Given the description of an element on the screen output the (x, y) to click on. 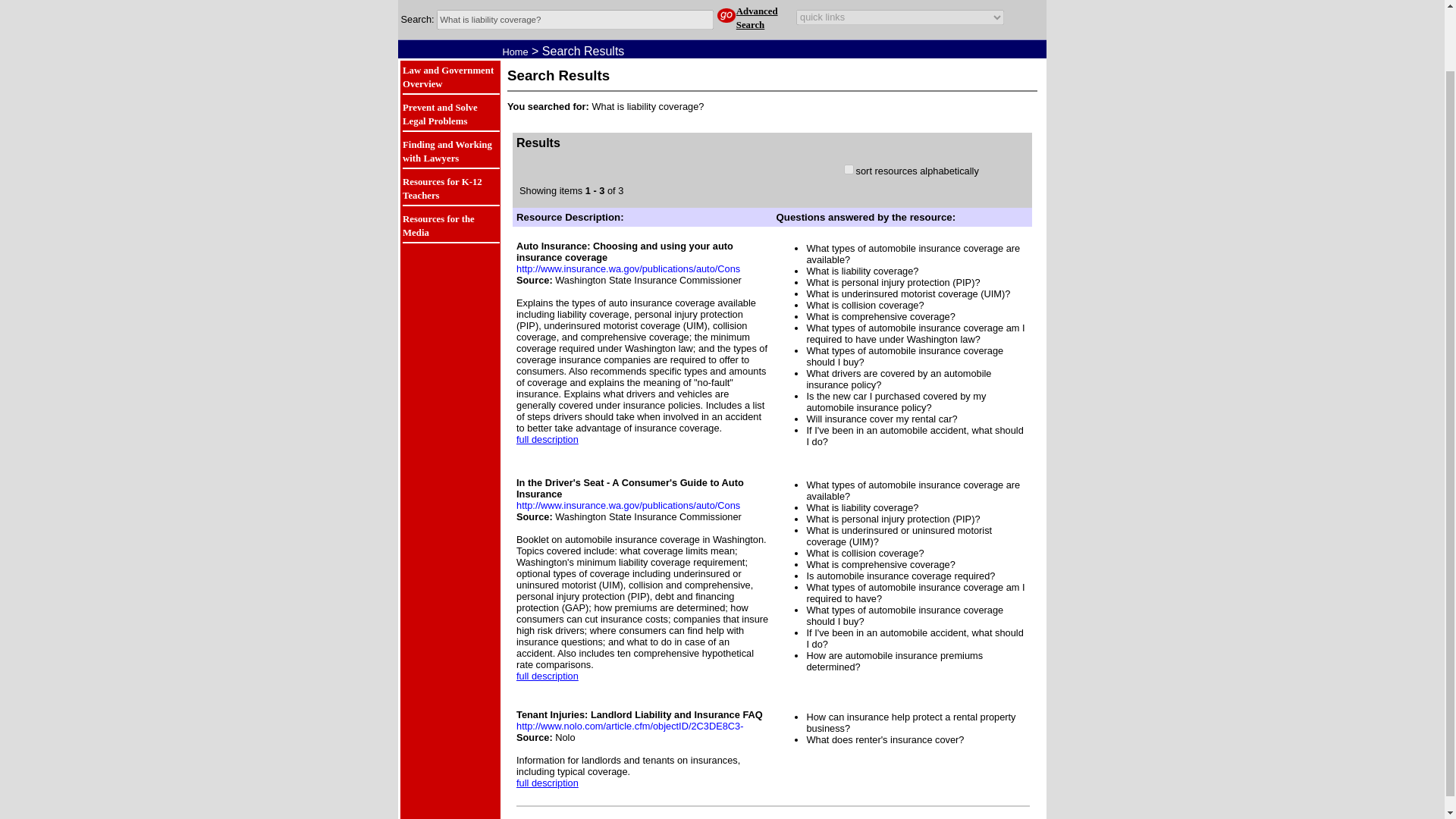
What is comprehensive coverage? (880, 564)
Home (514, 51)
What is collision coverage? (864, 552)
What types of automobile insurance coverage should I buy? (904, 355)
Finding and Working with Lawyers (447, 151)
What is comprehensive coverage? (880, 316)
What types of automobile insurance coverage are available? (913, 490)
If I've been in an automobile accident, what should I do? (914, 638)
Is automobile insurance coverage required? (900, 575)
What is liability coverage? (574, 19)
